Given the description of an element on the screen output the (x, y) to click on. 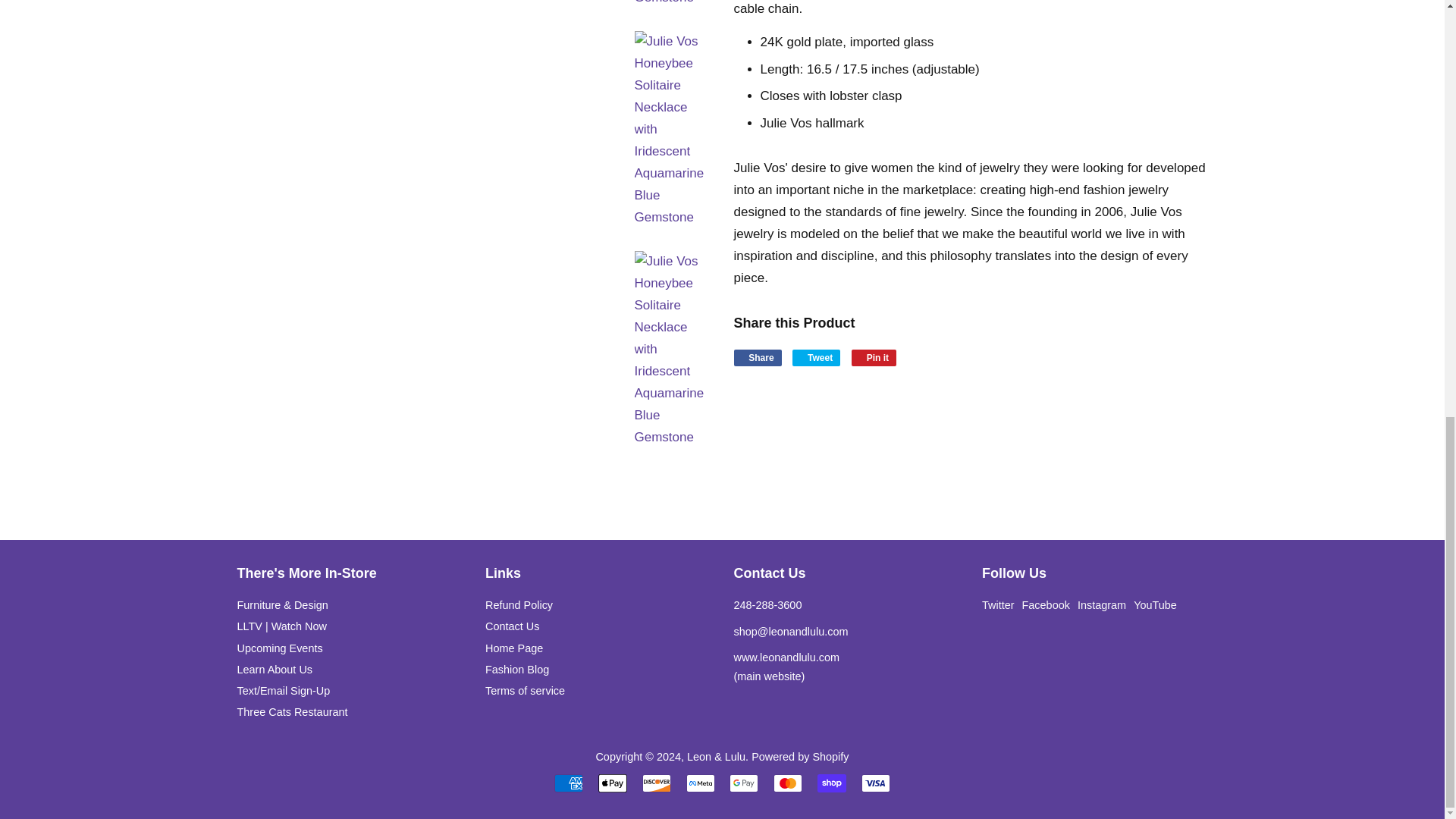
Discover (656, 782)
Meta Pay (699, 782)
Shop Pay (830, 782)
Pin on Pinterest (873, 357)
Tweet on Twitter (816, 357)
Google Pay (743, 782)
Share on Facebook (757, 357)
Apple Pay (612, 782)
Mastercard (787, 782)
American Express (568, 782)
